Given the description of an element on the screen output the (x, y) to click on. 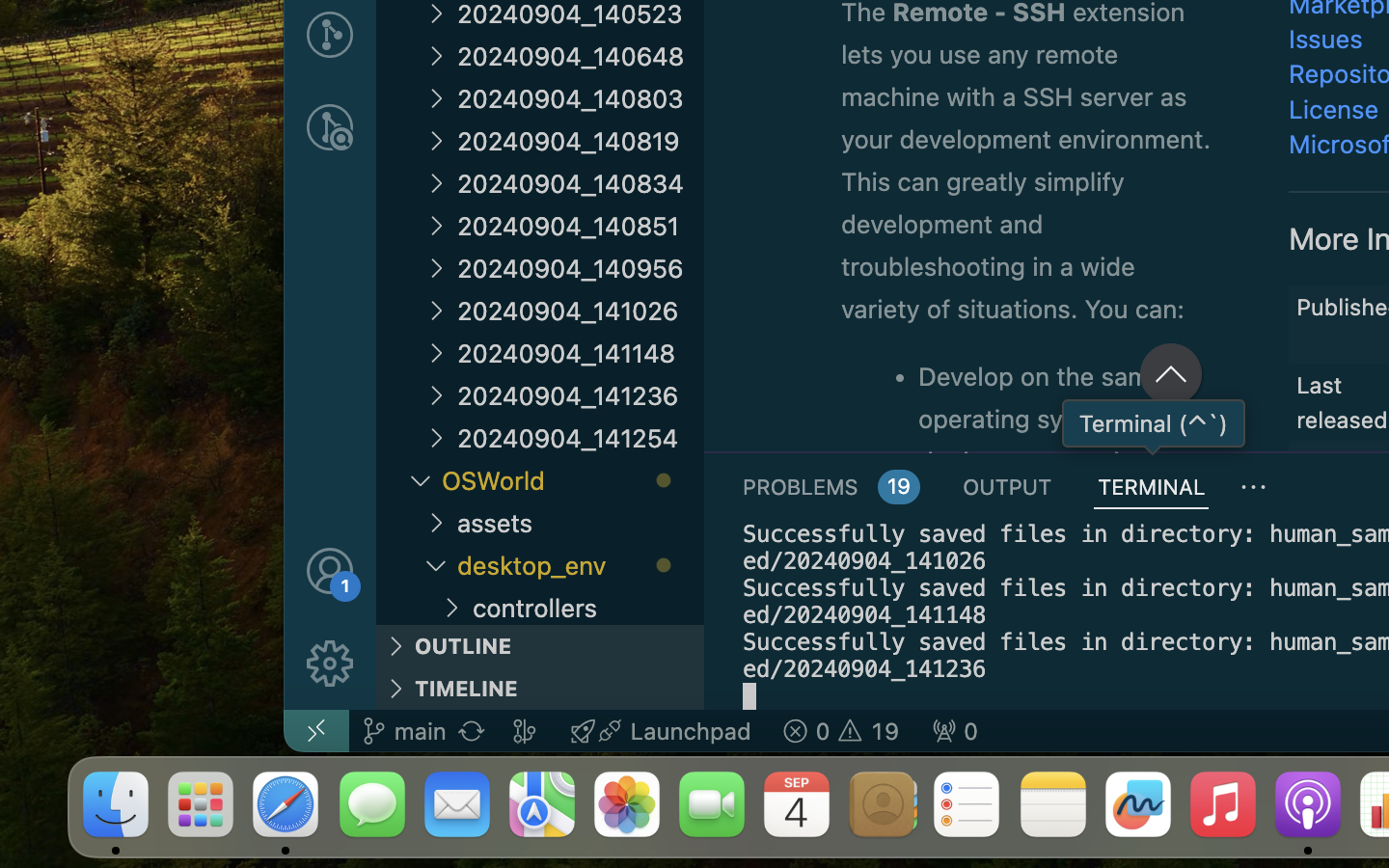
controllers Element type: AXGroup (588, 605)
20240904_140956 Element type: AXGroup (580, 267)
 Element type: AXGroup (329, 663)
20240904_140834 Element type: AXGroup (580, 183)
1 TERMINAL Element type: AXRadioButton (1151, 485)
